Given the description of an element on the screen output the (x, y) to click on. 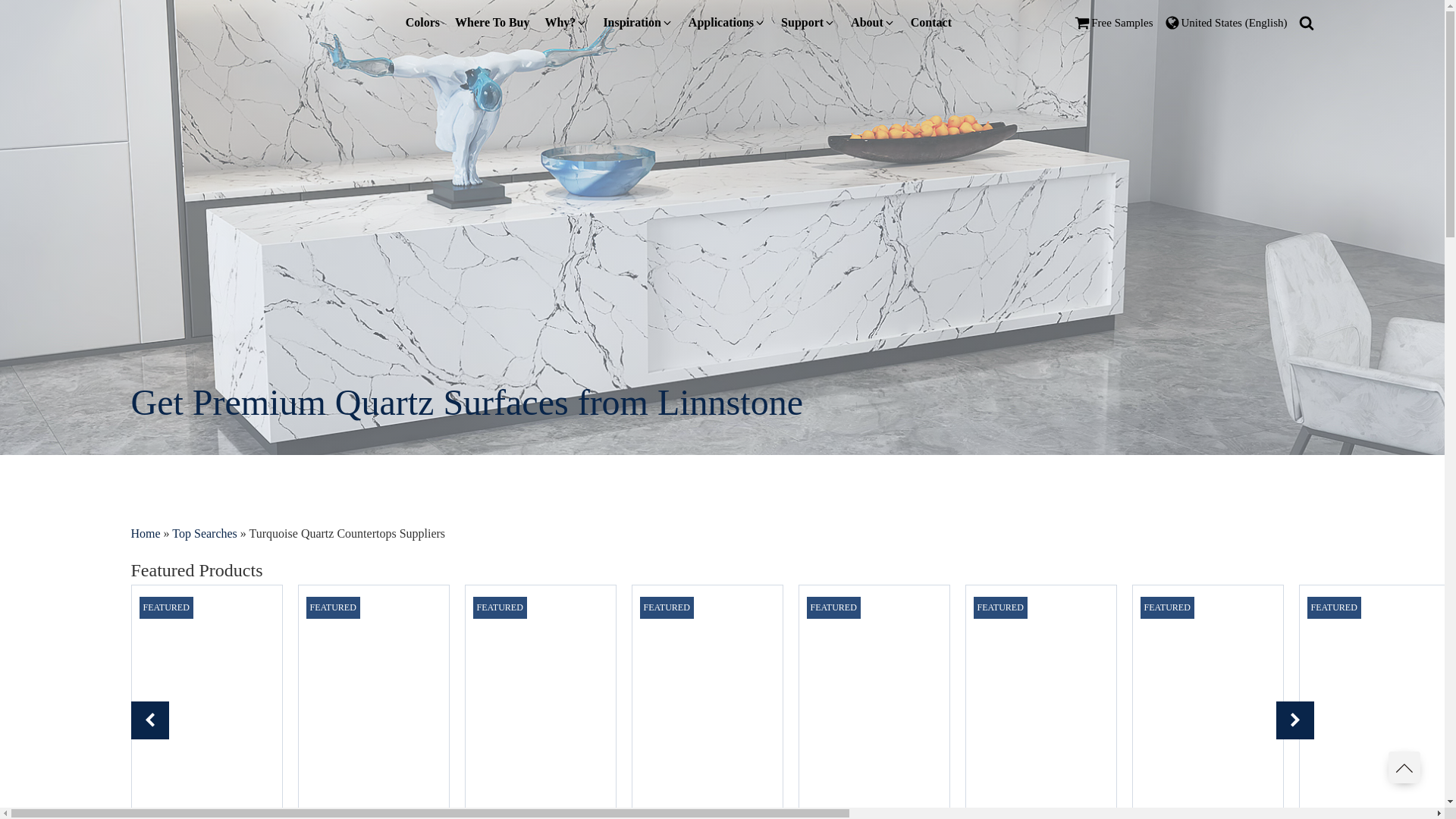
Where To Buy (491, 22)
Inspiration (637, 22)
Why? (566, 22)
Support (808, 22)
Contact (930, 22)
Top Searches (204, 533)
Applications (727, 22)
Free Samples (1113, 22)
About (872, 22)
Colors (421, 22)
